Given the description of an element on the screen output the (x, y) to click on. 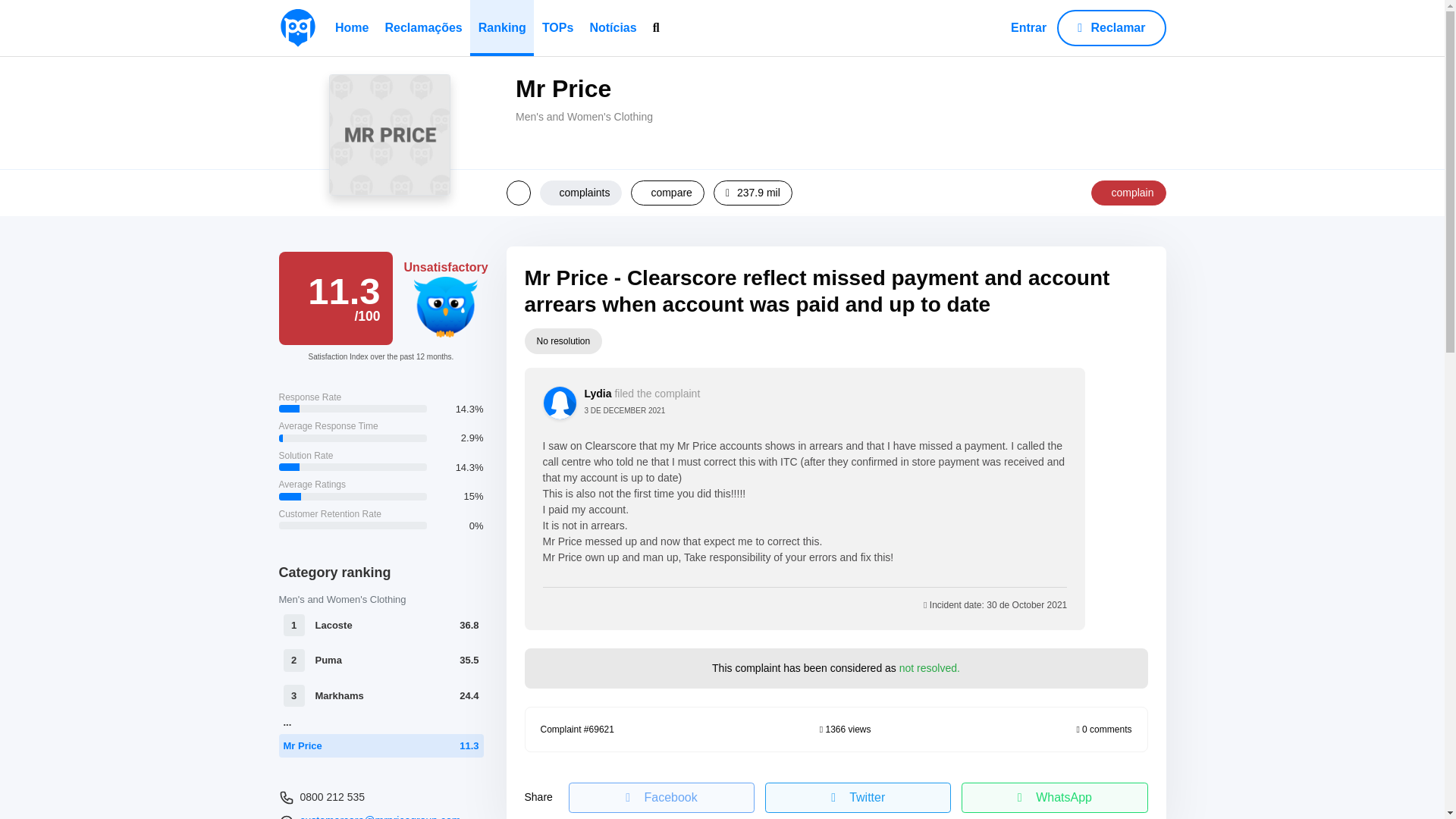
Ranking (502, 28)
Reclamar (1111, 27)
Lacoste (333, 625)
Men's and Women's Clothing (583, 116)
Puma (328, 660)
complain (1128, 192)
How is the Satisfaction Index calculated? (336, 297)
Entrar (1028, 27)
Men's and Women's Clothing (342, 599)
Markhams (339, 695)
